Given the description of an element on the screen output the (x, y) to click on. 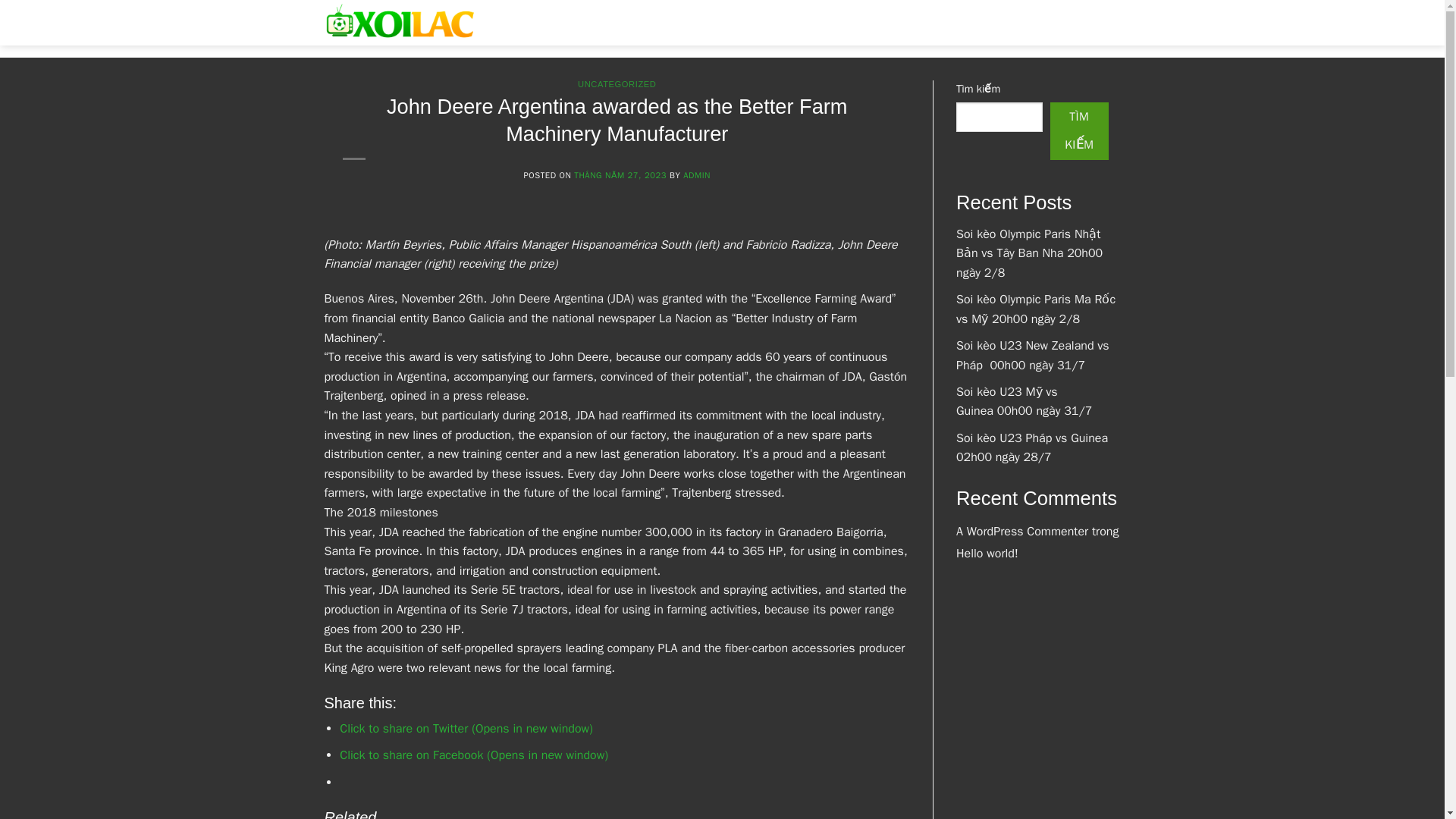
ADMIN (696, 174)
Click to share on Facebook (473, 754)
Hello world! (986, 553)
Click to share on Twitter (465, 728)
A WordPress Commenter (1021, 531)
XOILAC (534, 13)
UNCATEGORIZED (617, 83)
